Given the description of an element on the screen output the (x, y) to click on. 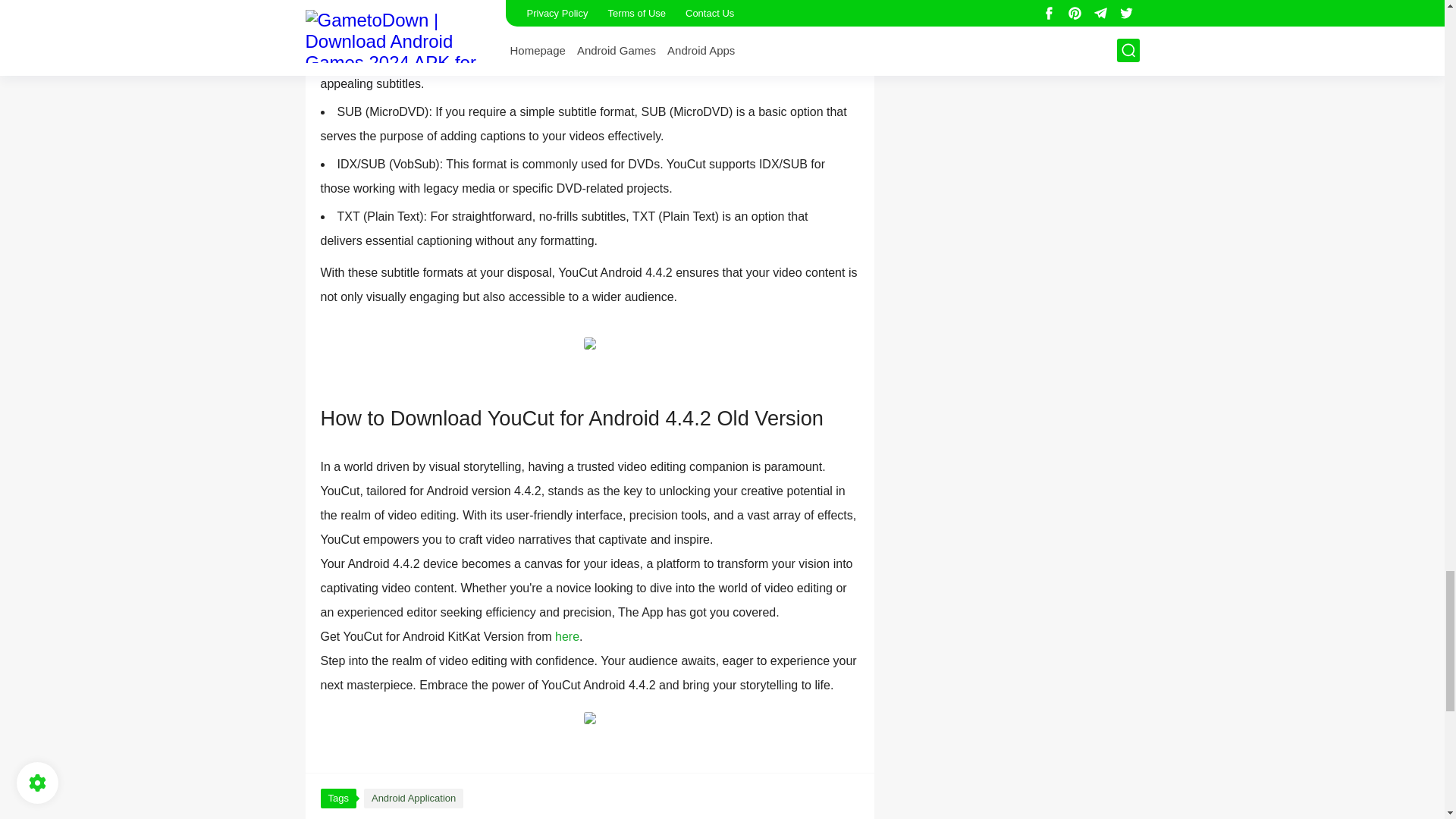
here (566, 635)
Android Application (413, 798)
